Given the description of an element on the screen output the (x, y) to click on. 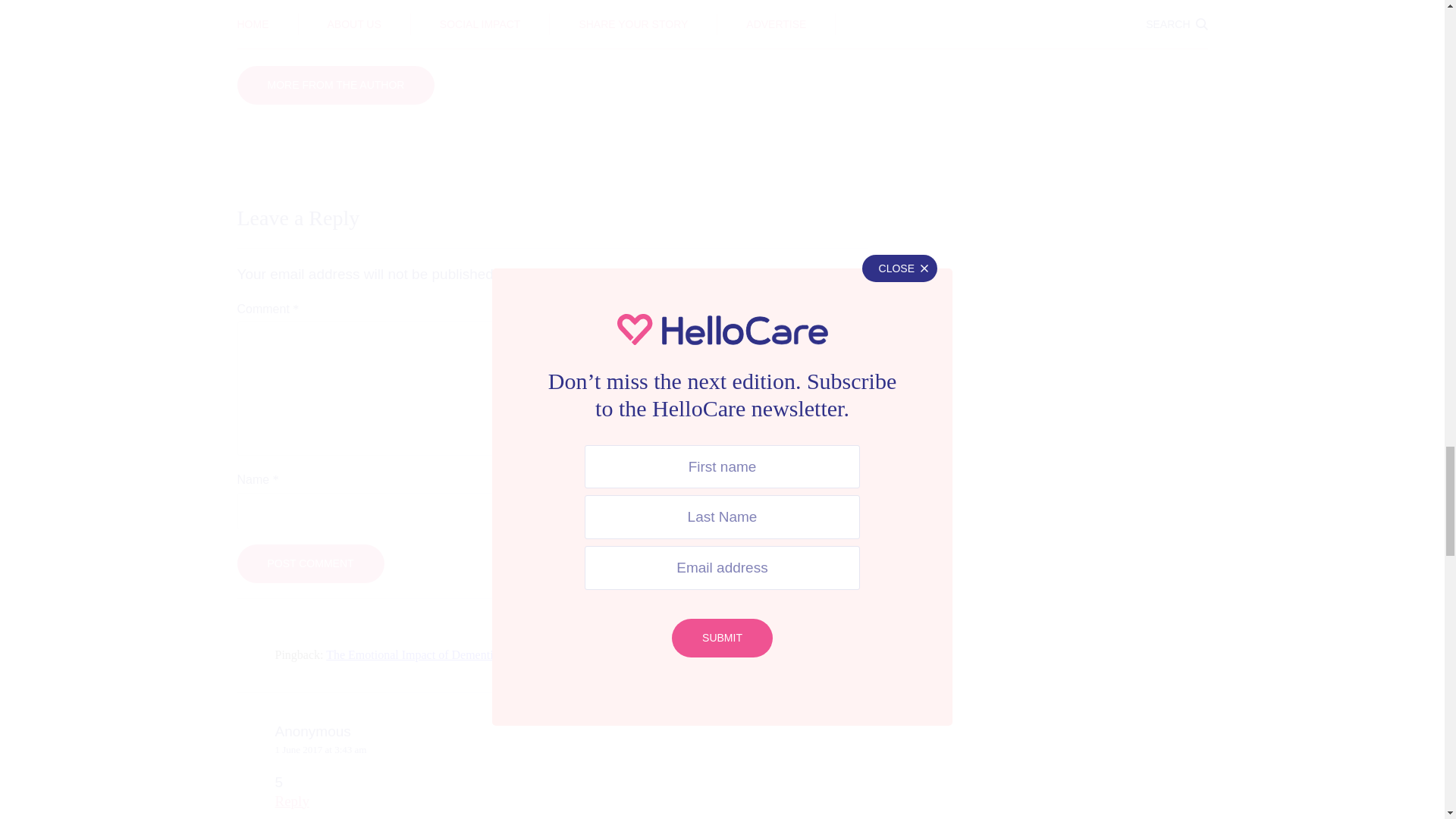
Share on linkedIn (652, 25)
Share on Facebook (372, 25)
Share on Twitter (512, 25)
Post Comment (309, 563)
Share via Email (792, 25)
